Given the description of an element on the screen output the (x, y) to click on. 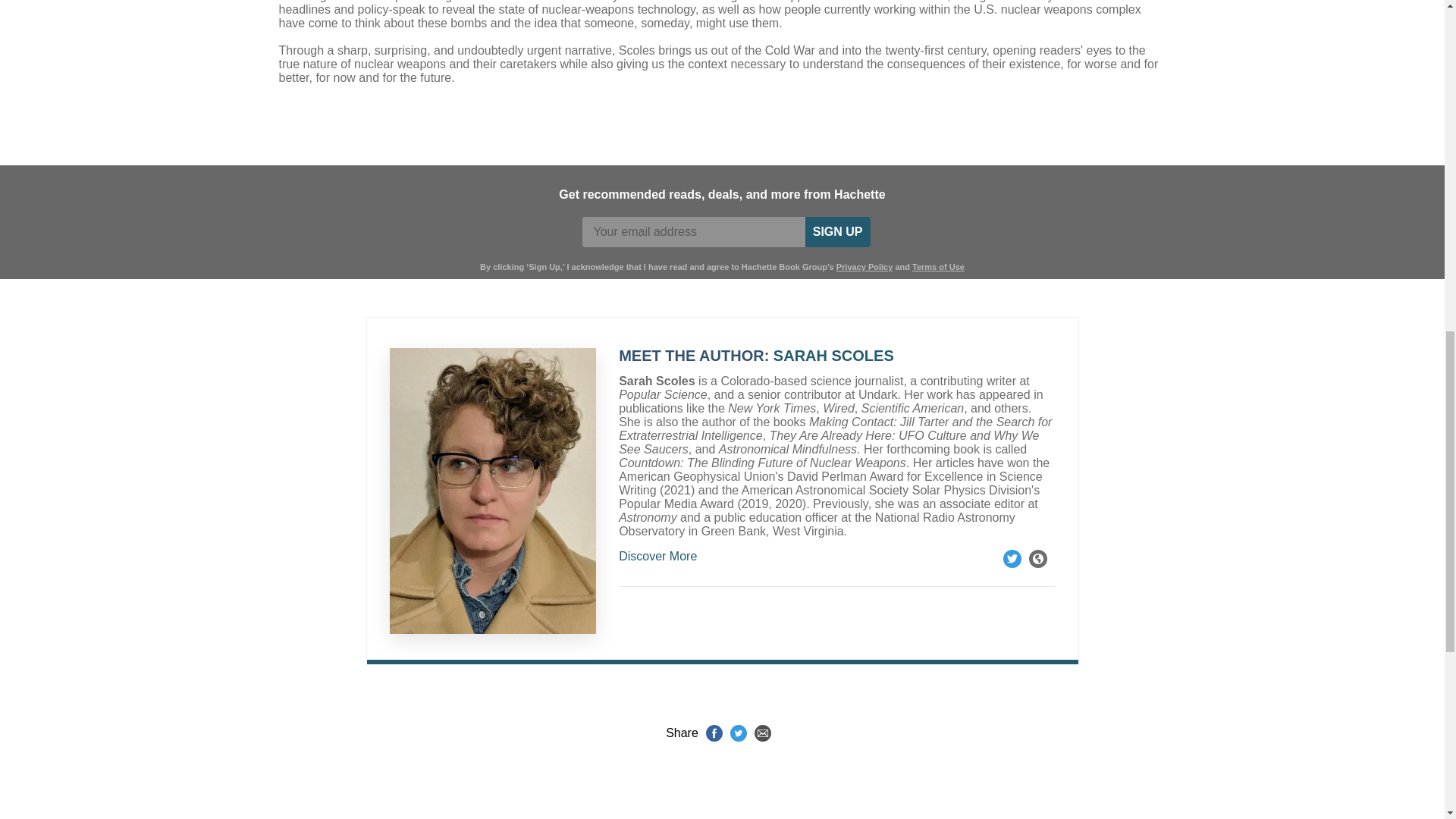
Privacy Policy (864, 266)
SIGN UP (837, 232)
MEET THE AUTHOR: SARAH SCOLES (836, 355)
Discover More (836, 556)
Terms of Use (937, 266)
